Given the description of an element on the screen output the (x, y) to click on. 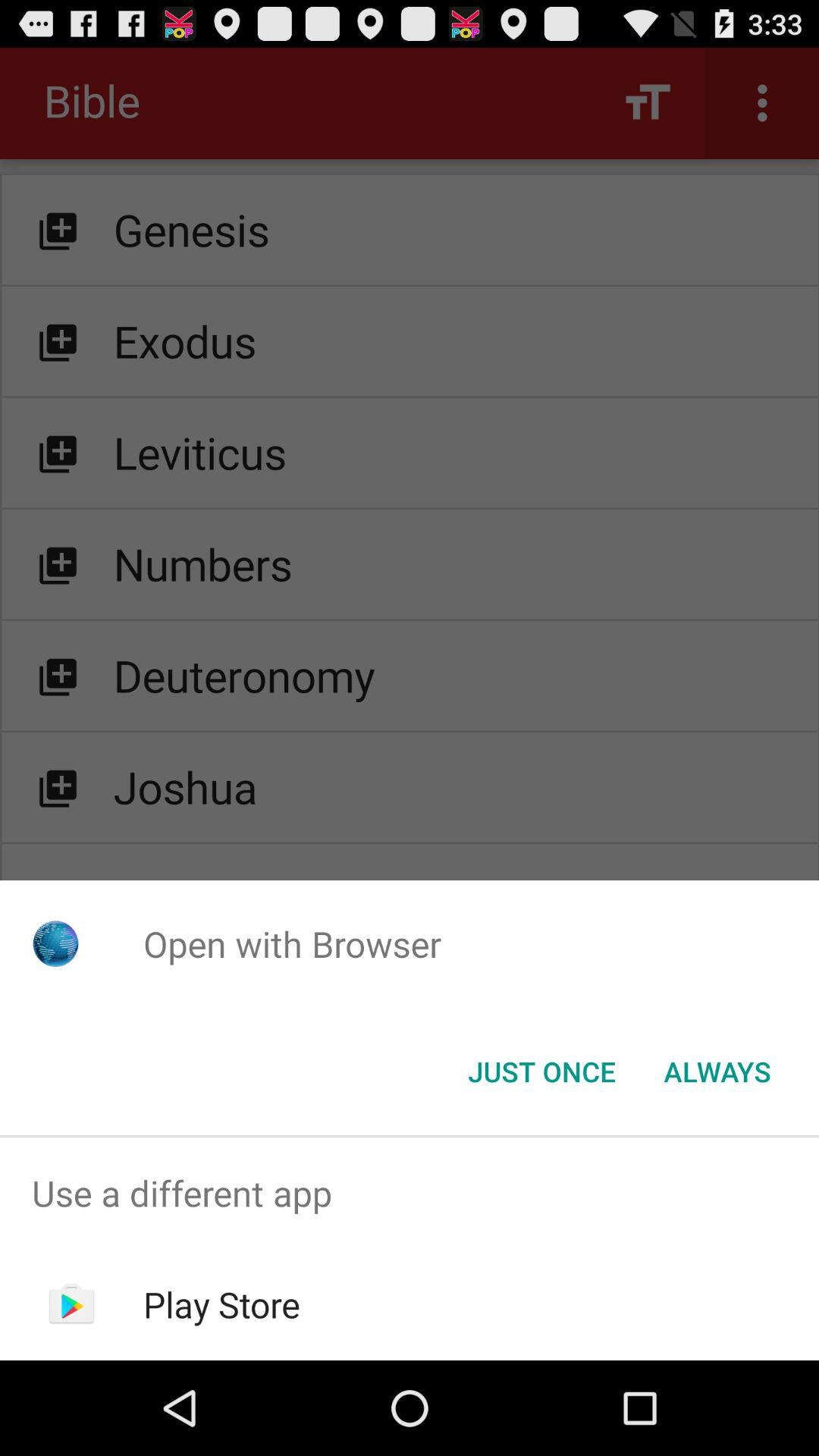
launch item next to always icon (541, 1071)
